Given the description of an element on the screen output the (x, y) to click on. 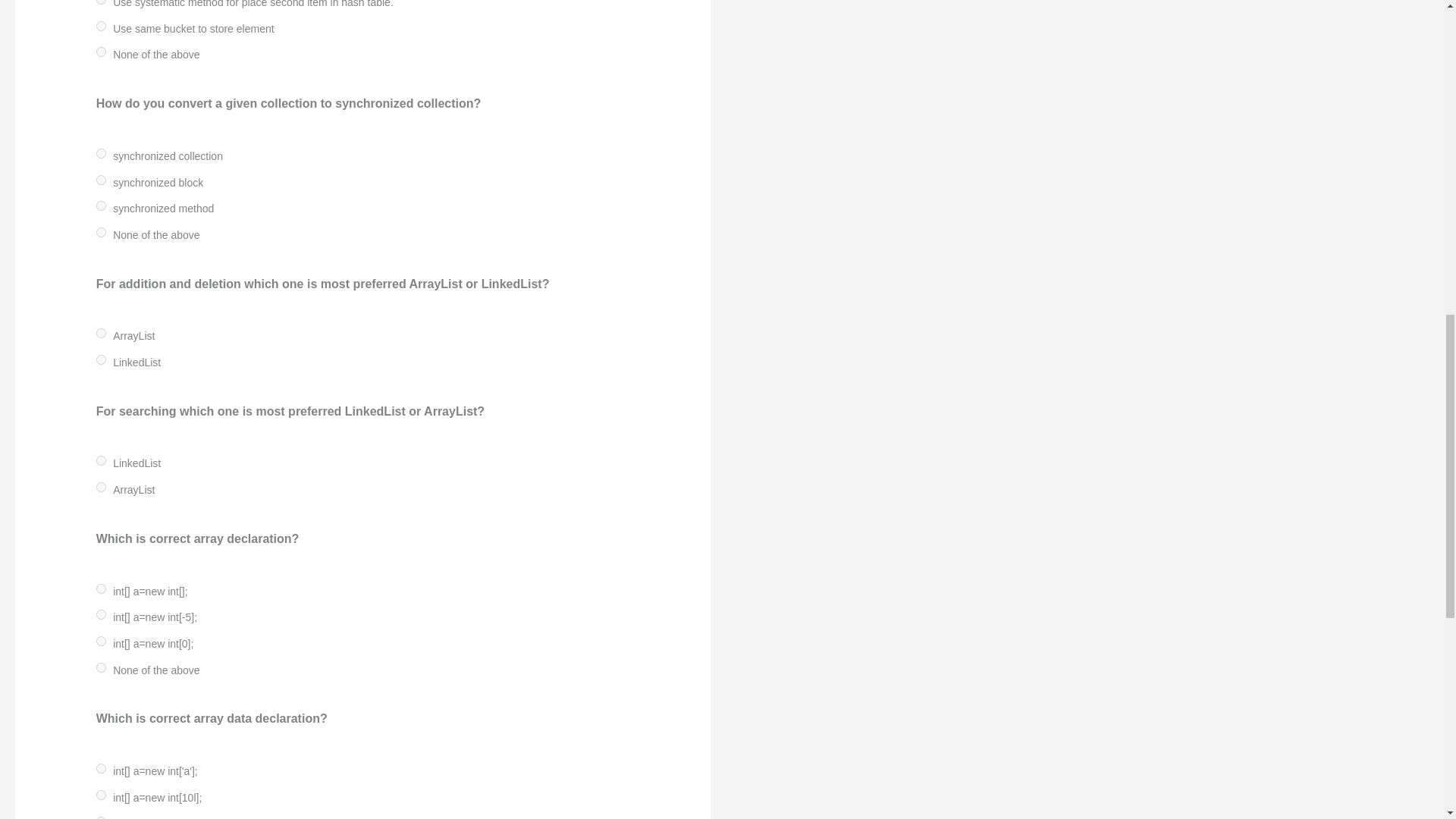
1 (101, 180)
3 (101, 51)
2 (101, 26)
3 (101, 232)
2 (101, 205)
1 (101, 359)
0 (101, 333)
0 (101, 153)
1 (101, 2)
